Given the description of an element on the screen output the (x, y) to click on. 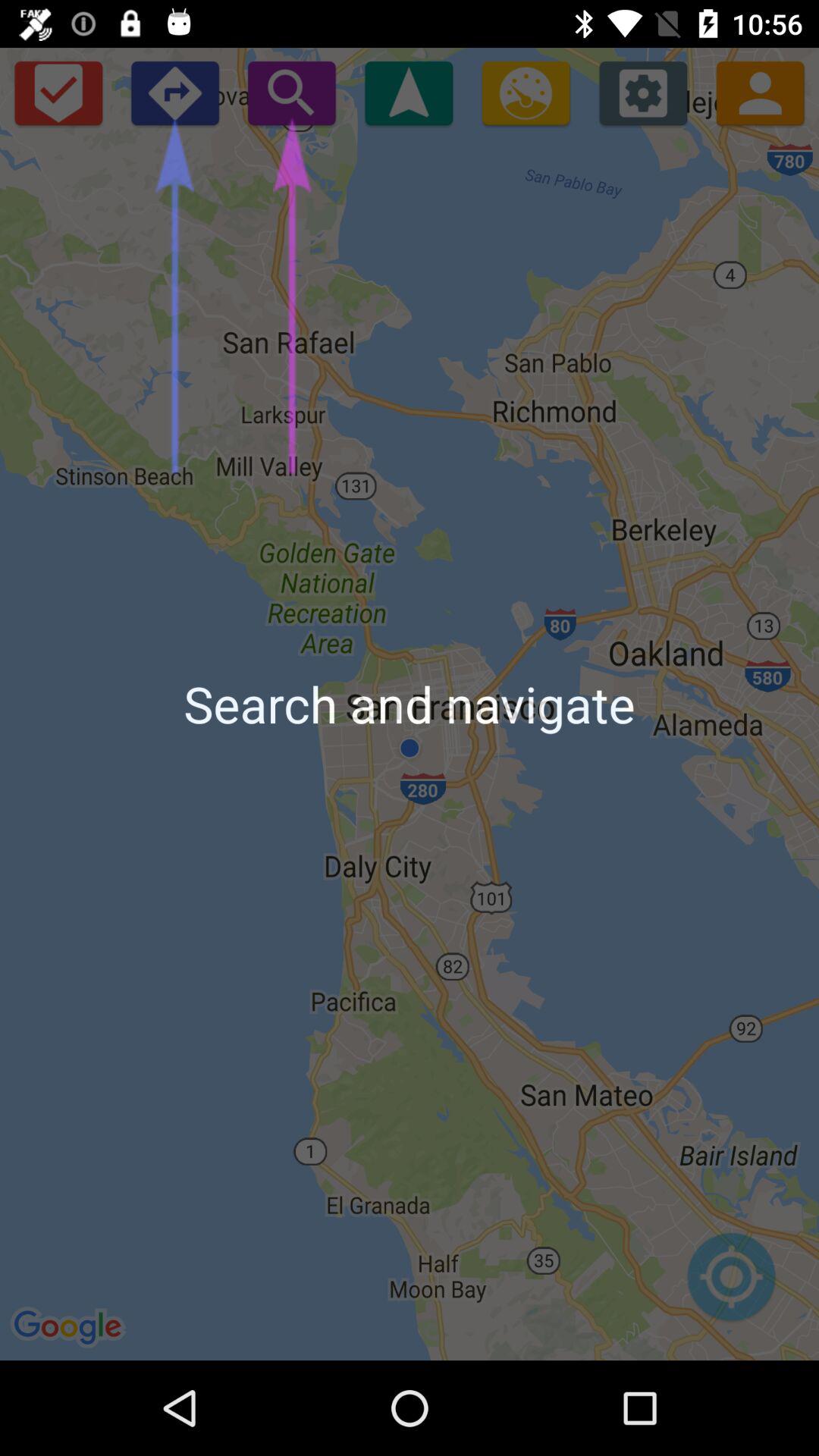
find gas station (525, 92)
